Given the description of an element on the screen output the (x, y) to click on. 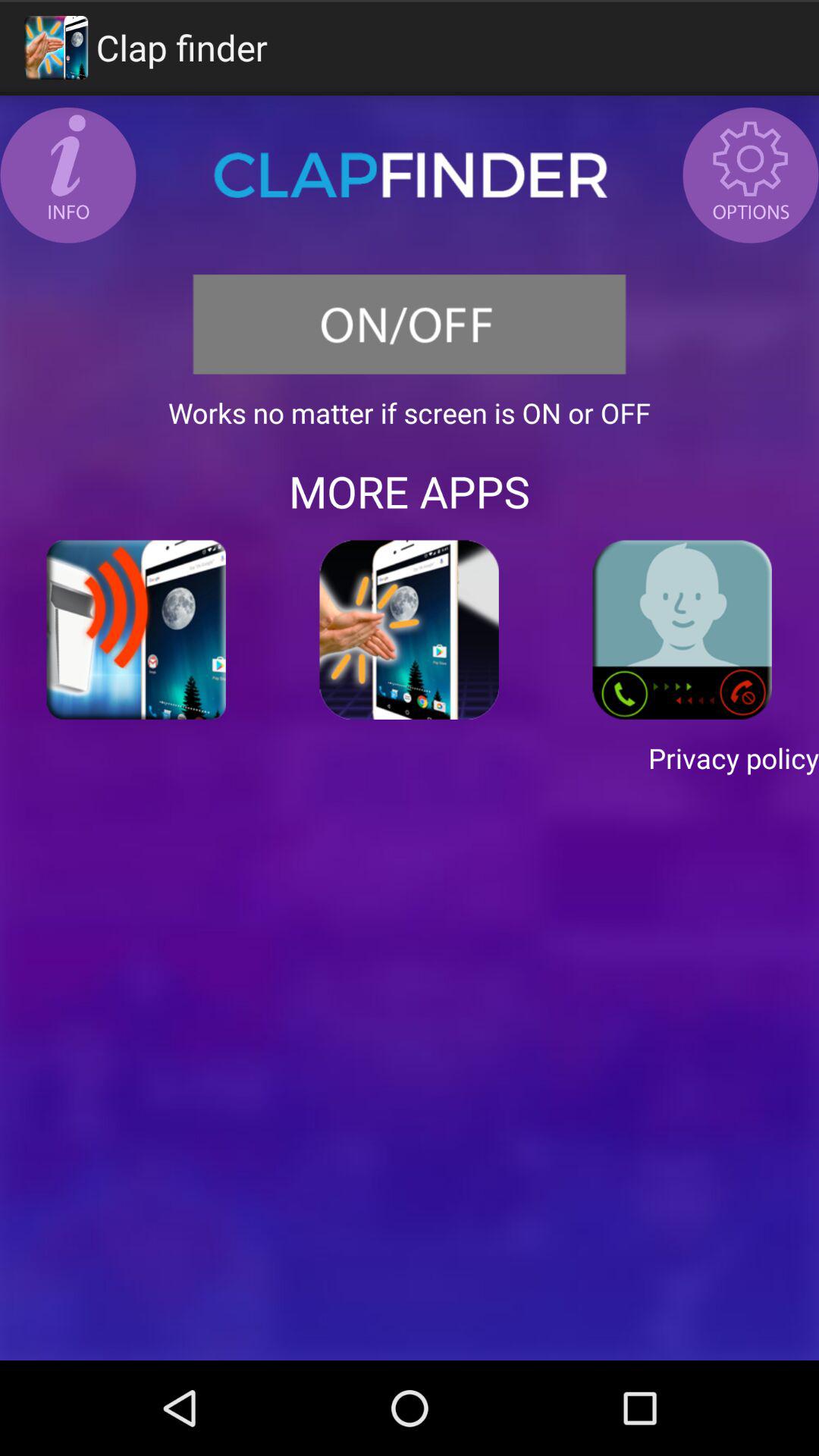
turn on the icon on the left (136, 629)
